Given the description of an element on the screen output the (x, y) to click on. 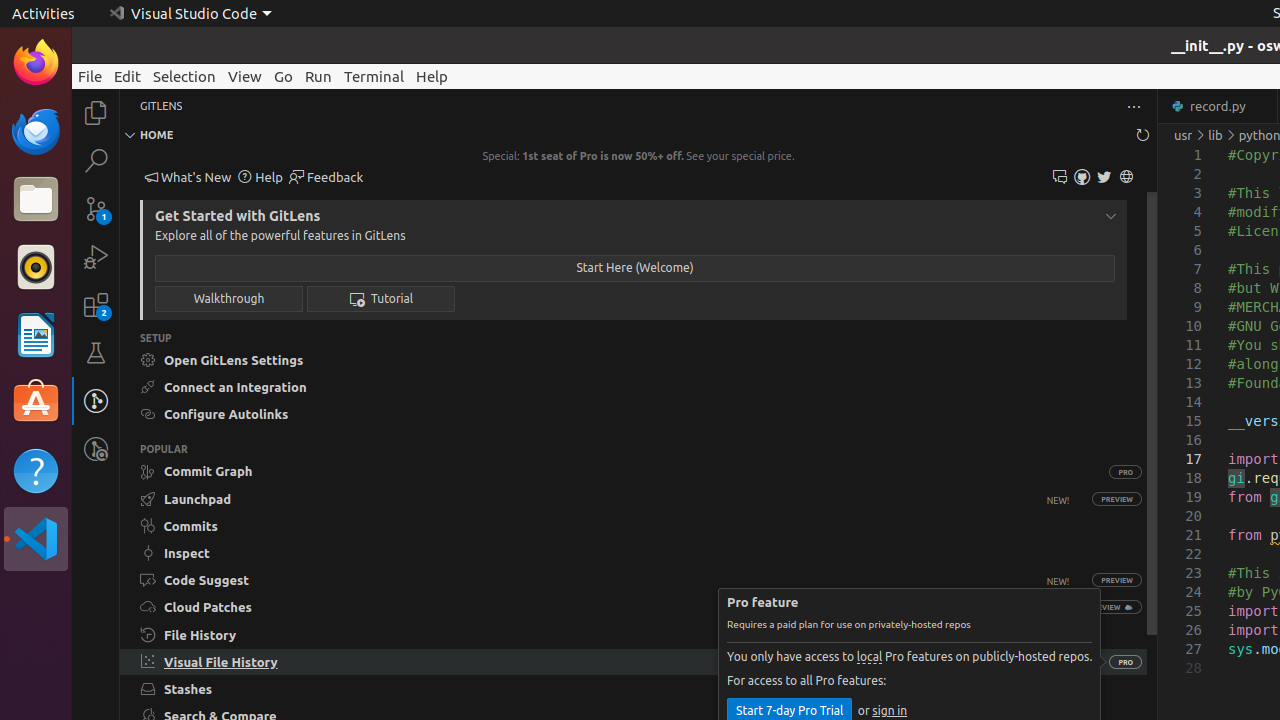
Go Element type: push-button (283, 76)
What's New Element type: link (187, 177)
Open Launchpad Element type: link (605, 498)
Testing Element type: page-tab (96, 353)
@gitlens on Twitter Element type: link (1104, 177)
